Given the description of an element on the screen output the (x, y) to click on. 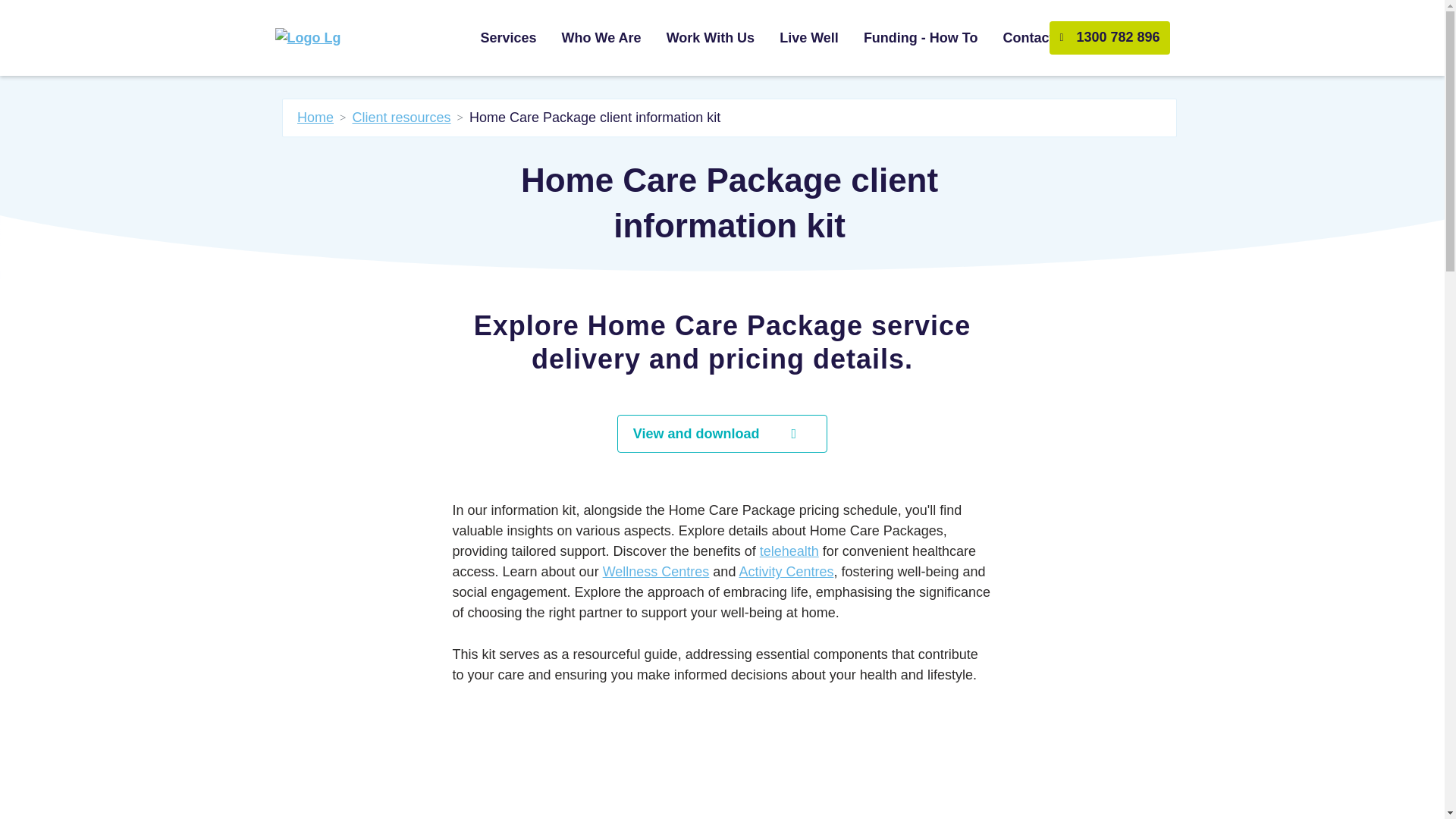
Wellness Centre (656, 571)
Telehealth (789, 550)
Activity Centre (710, 37)
